Given the description of an element on the screen output the (x, y) to click on. 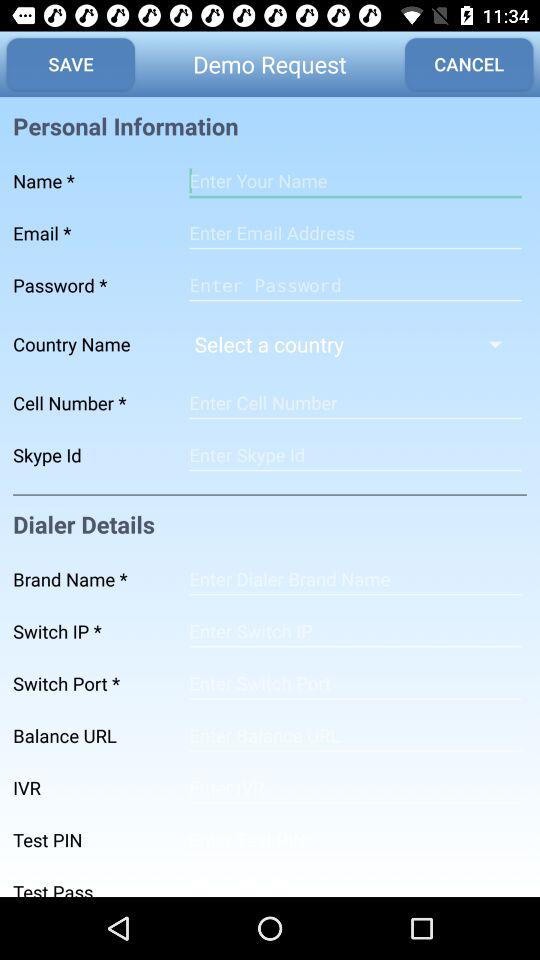
space option (355, 683)
